Given the description of an element on the screen output the (x, y) to click on. 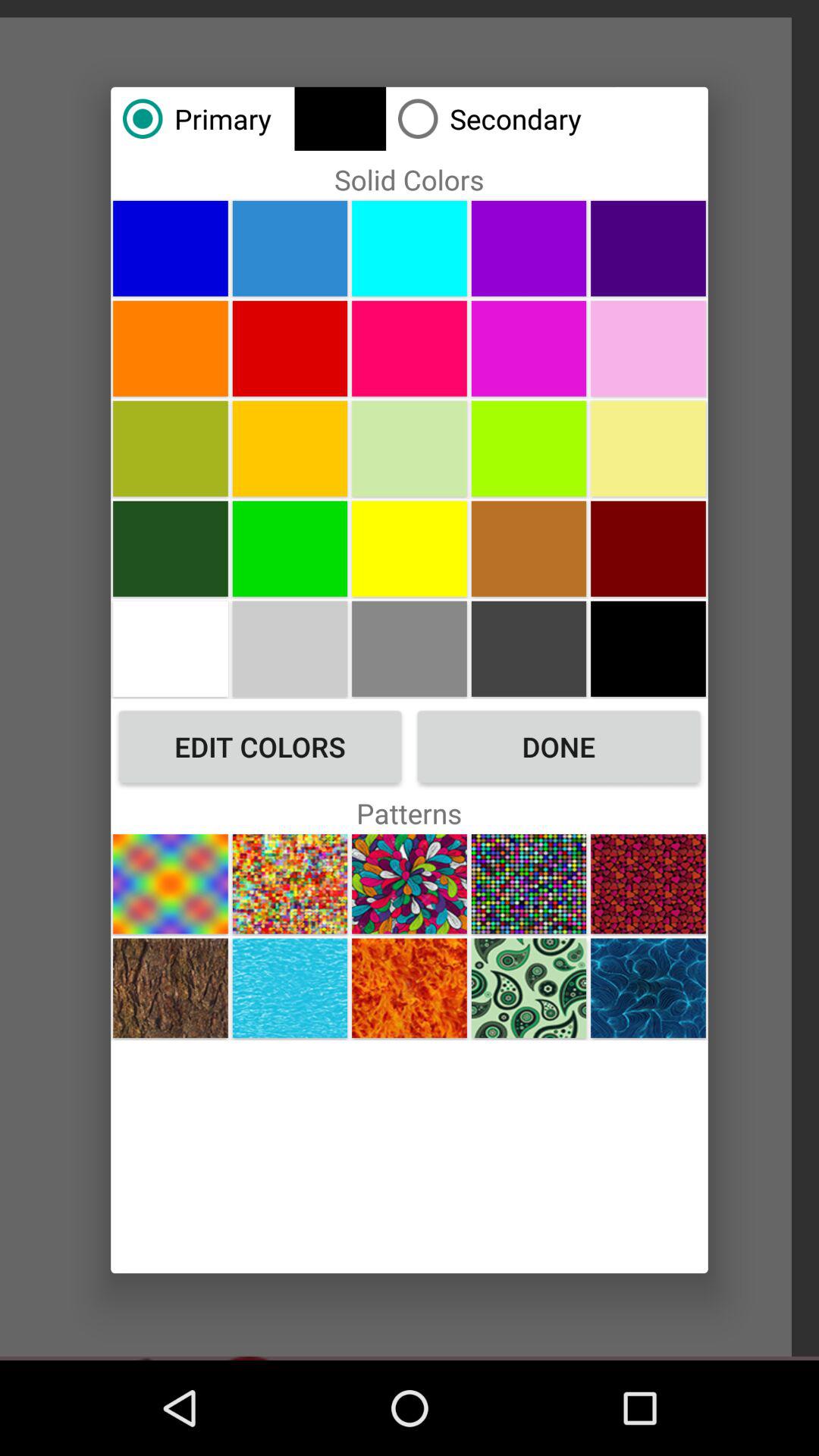
dark neon green (289, 548)
